Given the description of an element on the screen output the (x, y) to click on. 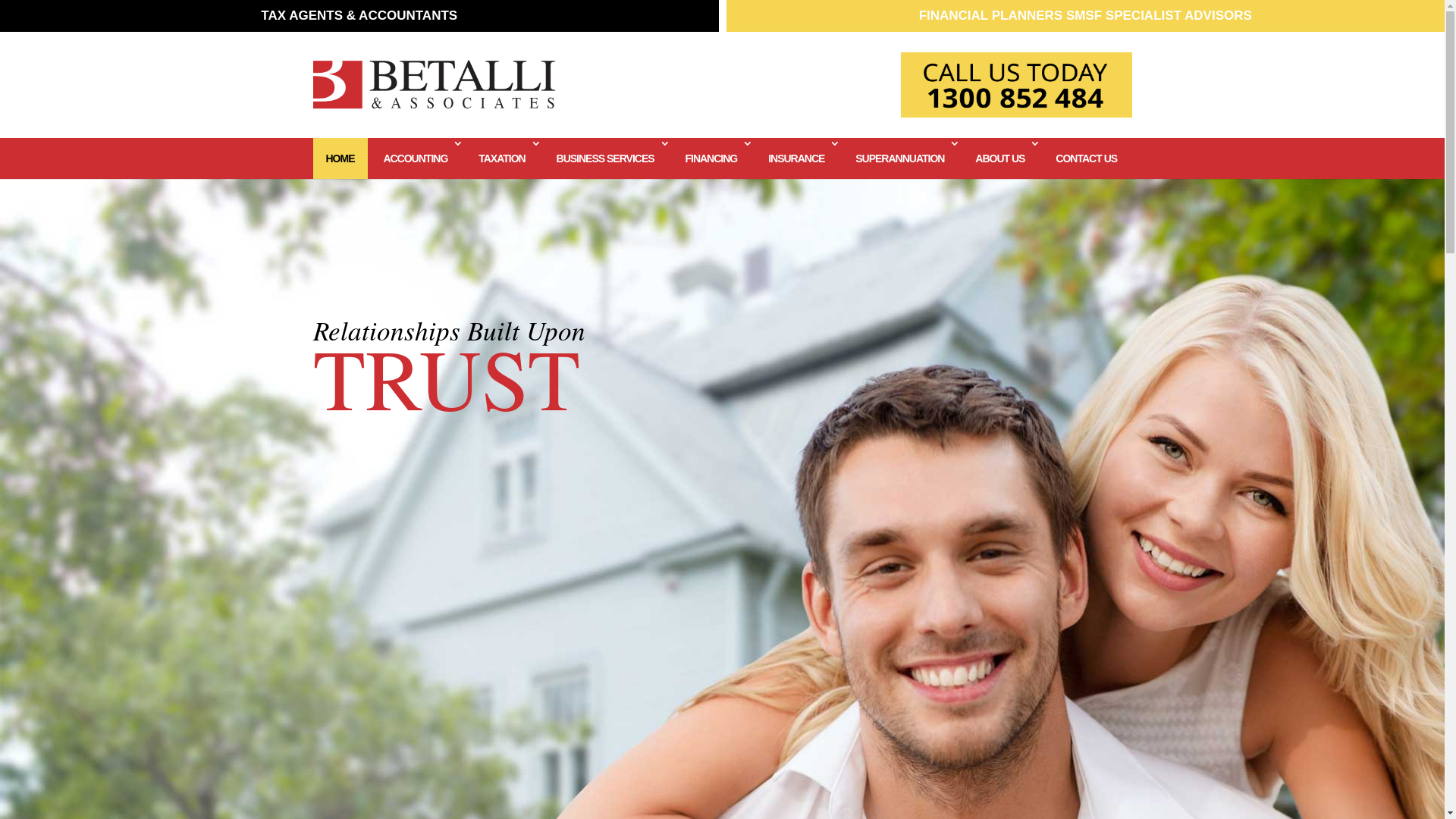
HOME Element type: text (339, 158)
SUPERANNUATION Element type: text (900, 158)
TAXATION Element type: text (502, 158)
CONTACT US Element type: text (1085, 158)
ABOUT US Element type: text (1000, 158)
ACCOUNTING Element type: text (416, 158)
BUSINESS SERVICES Element type: text (606, 158)
FINANCING Element type: text (711, 158)
INSURANCE Element type: text (797, 158)
